Given the description of an element on the screen output the (x, y) to click on. 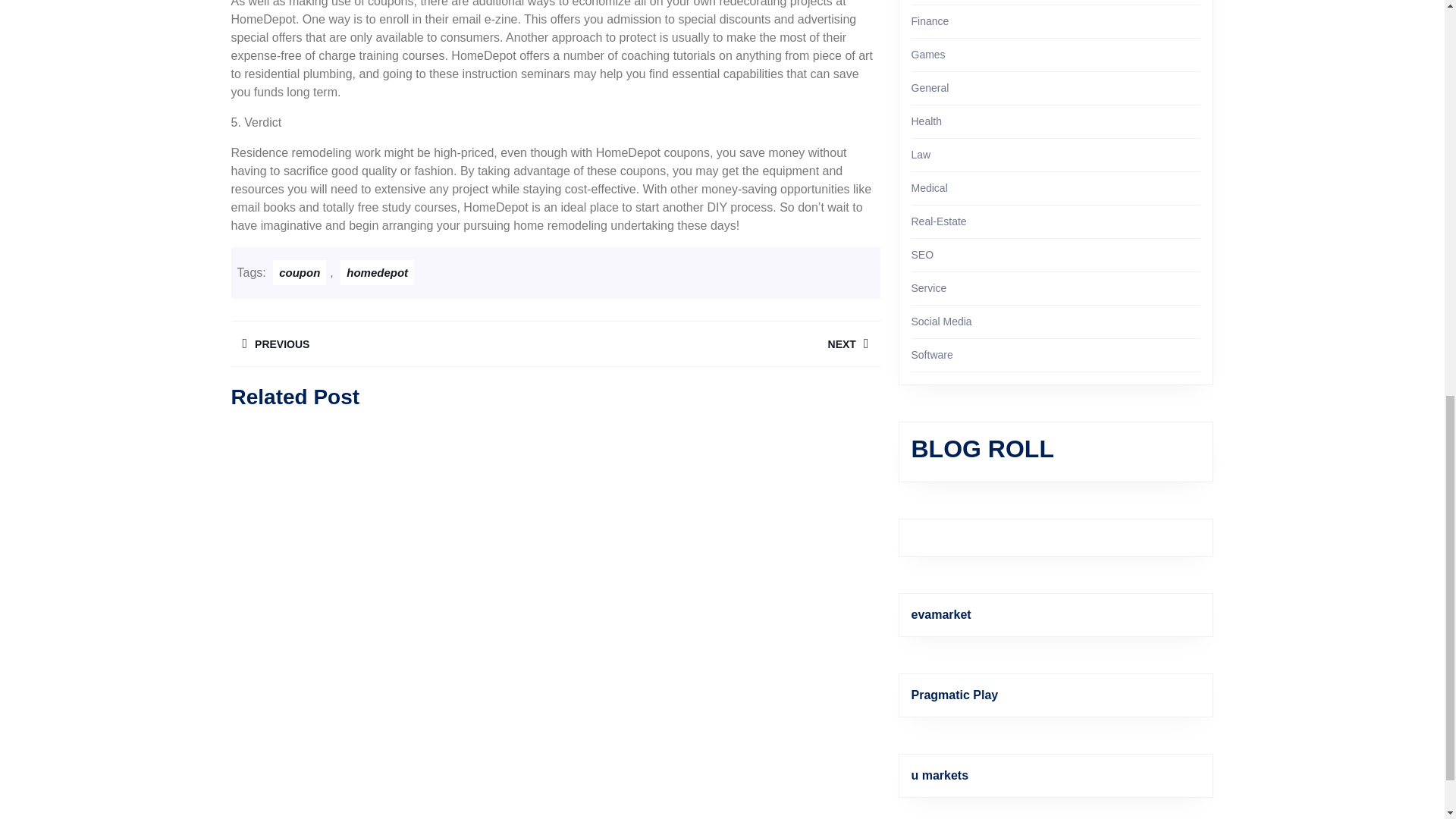
Medical (929, 187)
Health (926, 121)
Law (392, 343)
General (716, 343)
homedepot (921, 154)
Finance (930, 87)
coupon (376, 272)
Games (930, 21)
